Given the description of an element on the screen output the (x, y) to click on. 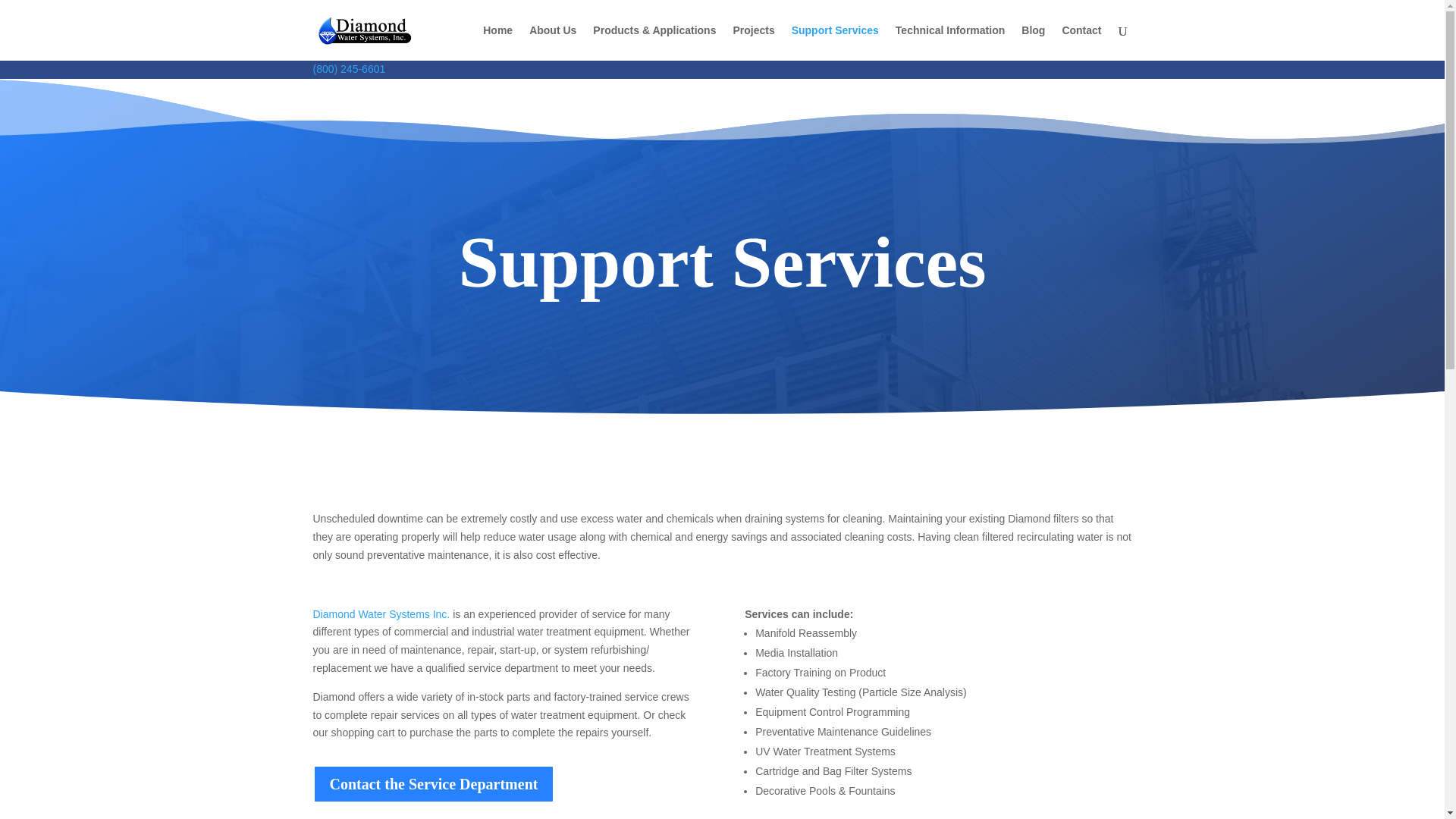
About Us (552, 42)
Projects (753, 42)
Support Services (835, 42)
Contact the Service Department (433, 783)
Contact (1080, 42)
Diamond Water Systems Inc. (381, 613)
Technical Information (949, 42)
Diamond Water Systems (364, 29)
Diamond Water Systems Inc (381, 613)
